Given the description of an element on the screen output the (x, y) to click on. 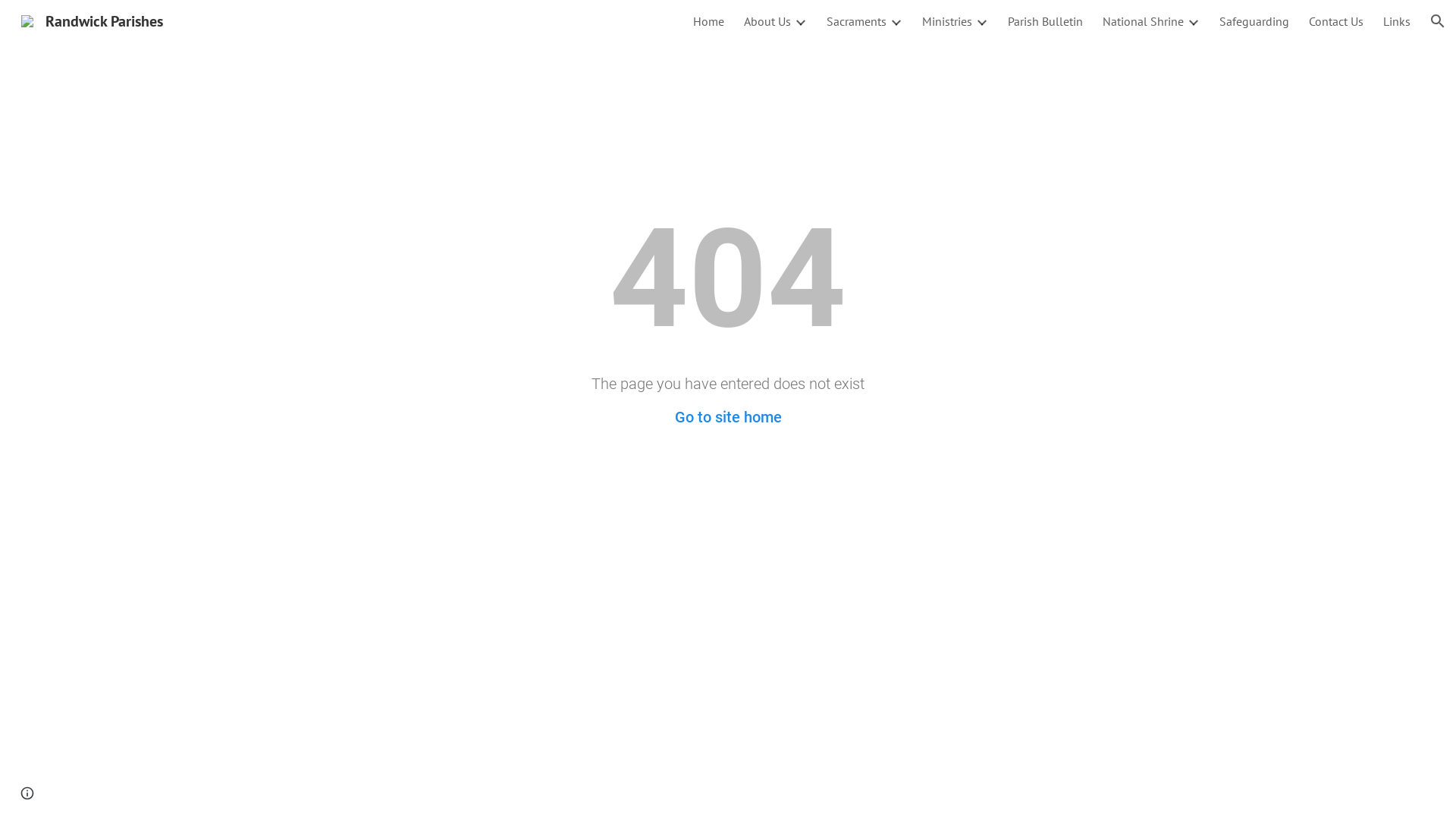
National Shrine Element type: text (1142, 20)
Expand/Collapse Element type: hover (799, 20)
Ministries Element type: text (947, 20)
Expand/Collapse Element type: hover (1192, 20)
Contact Us Element type: text (1335, 20)
Randwick Parishes Element type: text (92, 19)
Go to site home Element type: text (727, 416)
Safeguarding Element type: text (1254, 20)
Parish Bulletin Element type: text (1044, 20)
About Us Element type: text (766, 20)
Expand/Collapse Element type: hover (981, 20)
Sacraments Element type: text (856, 20)
Expand/Collapse Element type: hover (895, 20)
Links Element type: text (1396, 20)
Home Element type: text (708, 20)
